Given the description of an element on the screen output the (x, y) to click on. 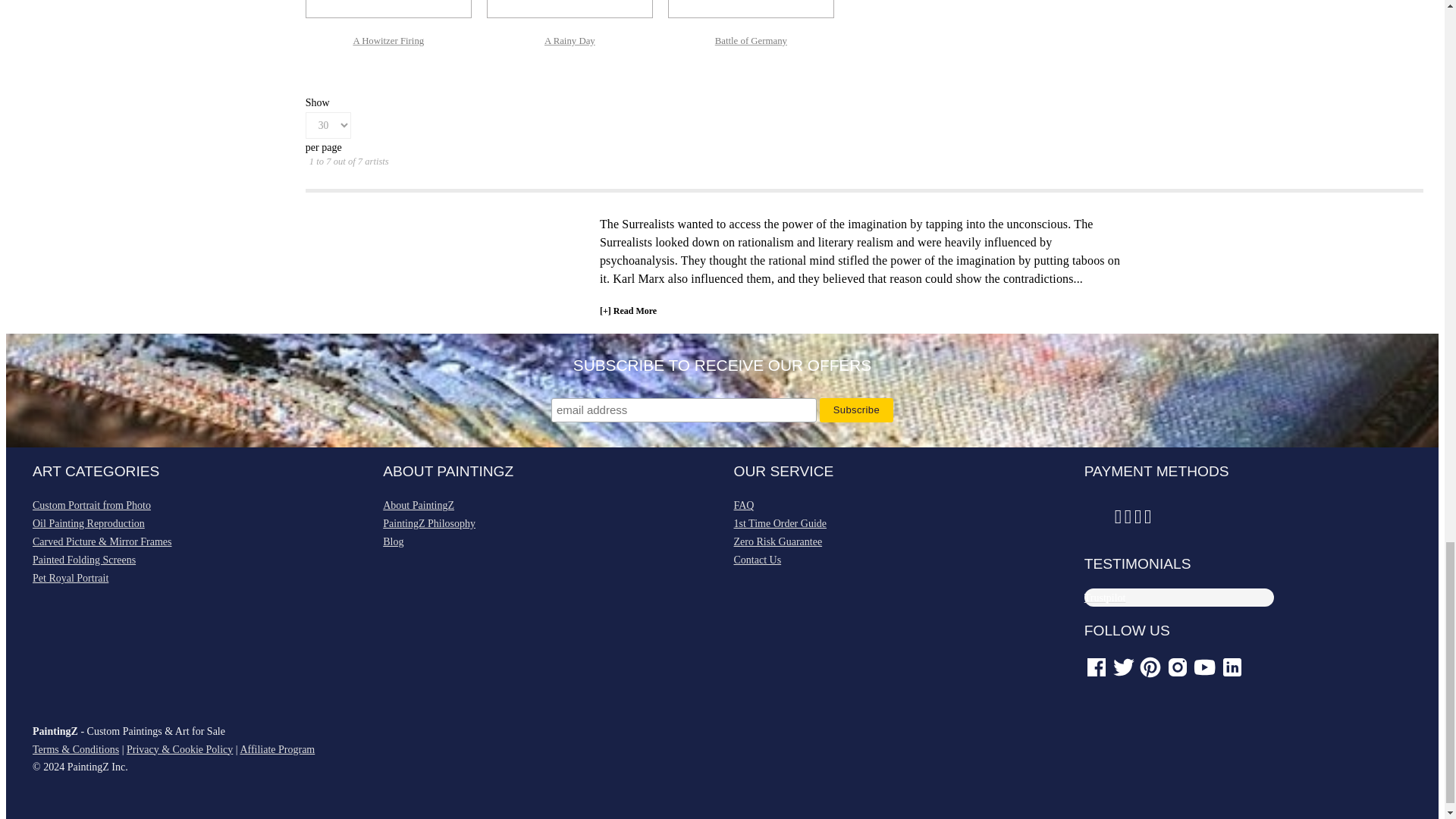
Subscribe (856, 410)
